Given the description of an element on the screen output the (x, y) to click on. 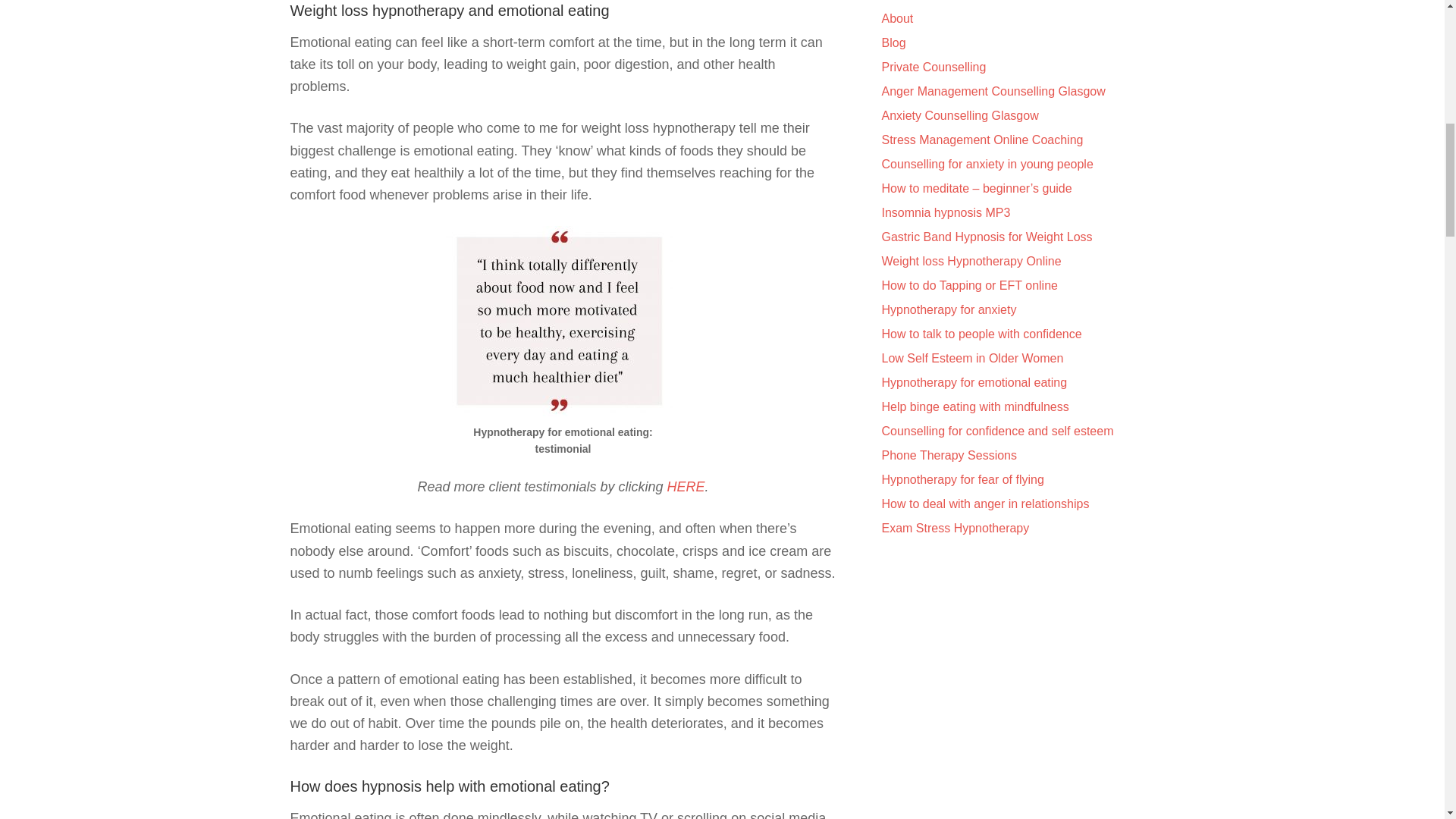
Testimonials (913, 0)
Private Counselling (932, 66)
HERE (685, 486)
About (896, 18)
Blog (892, 42)
